Given the description of an element on the screen output the (x, y) to click on. 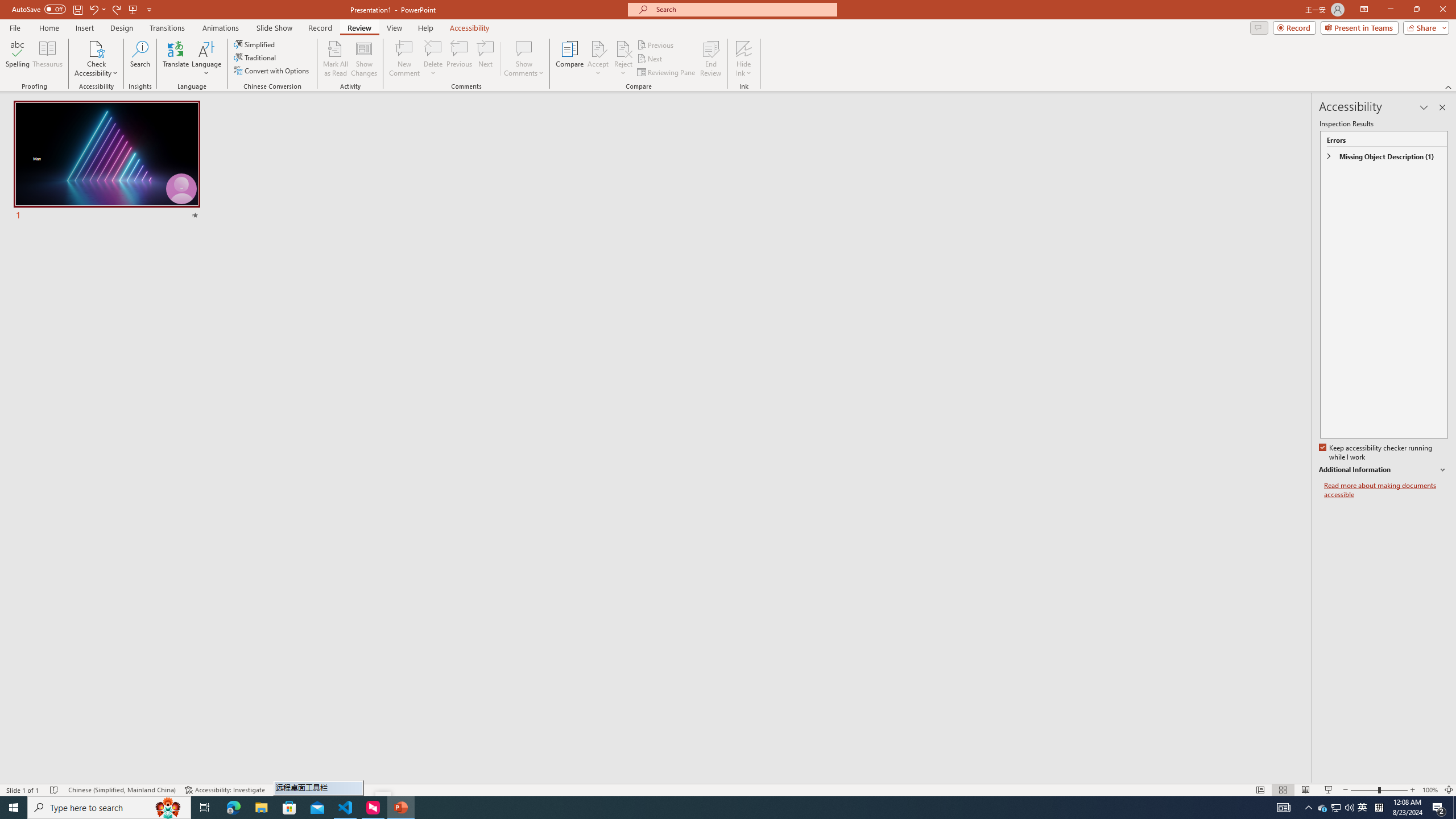
Additional Information (1383, 469)
Accept (598, 58)
Traditional (255, 56)
Keep accessibility checker running while I work (1376, 452)
Translate (175, 58)
Mark All as Read (335, 58)
